Given the description of an element on the screen output the (x, y) to click on. 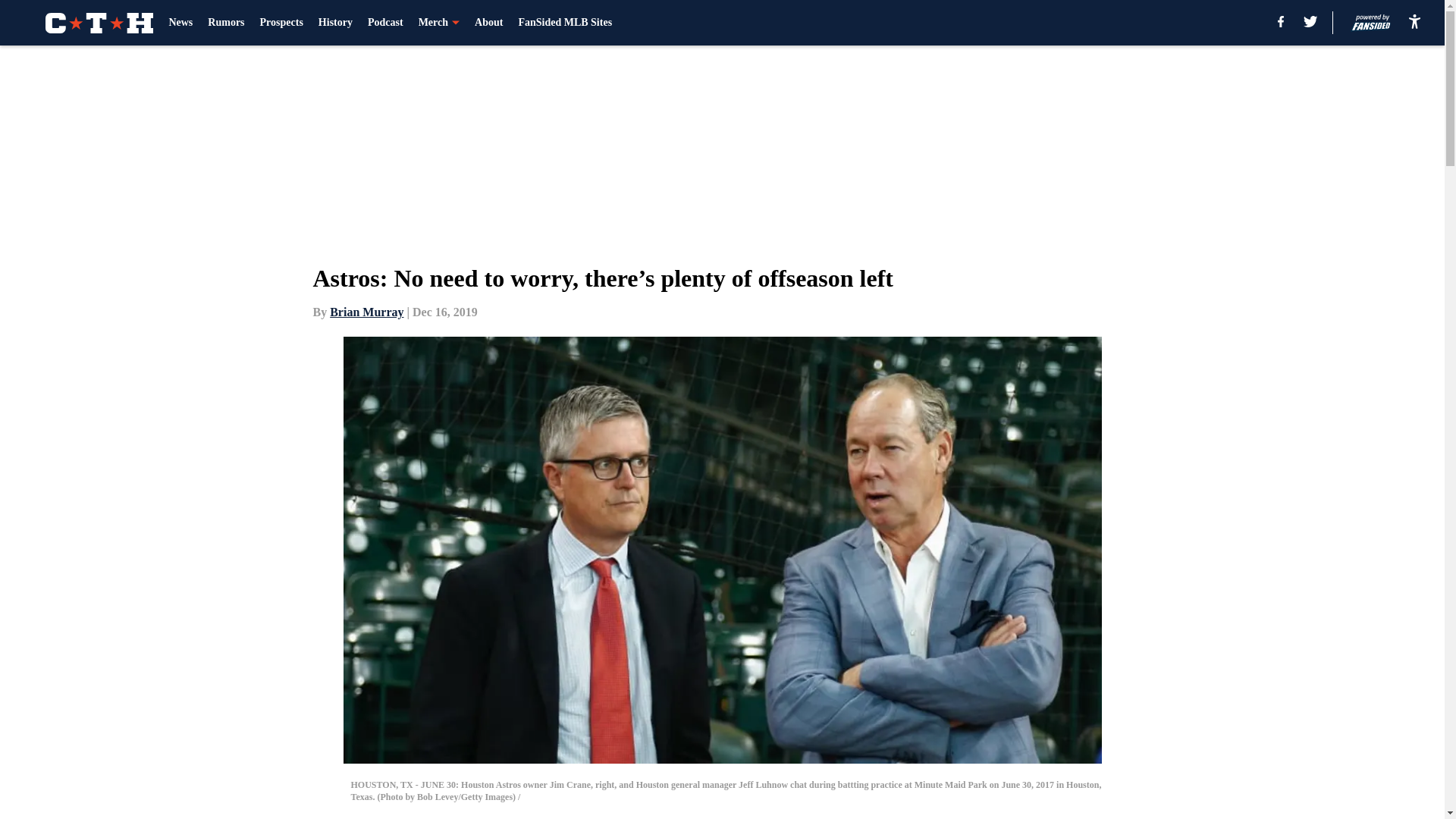
FanSided MLB Sites (564, 22)
Rumors (226, 22)
Podcast (385, 22)
Brian Murray (366, 311)
Prospects (281, 22)
History (335, 22)
About (488, 22)
News (180, 22)
